Given the description of an element on the screen output the (x, y) to click on. 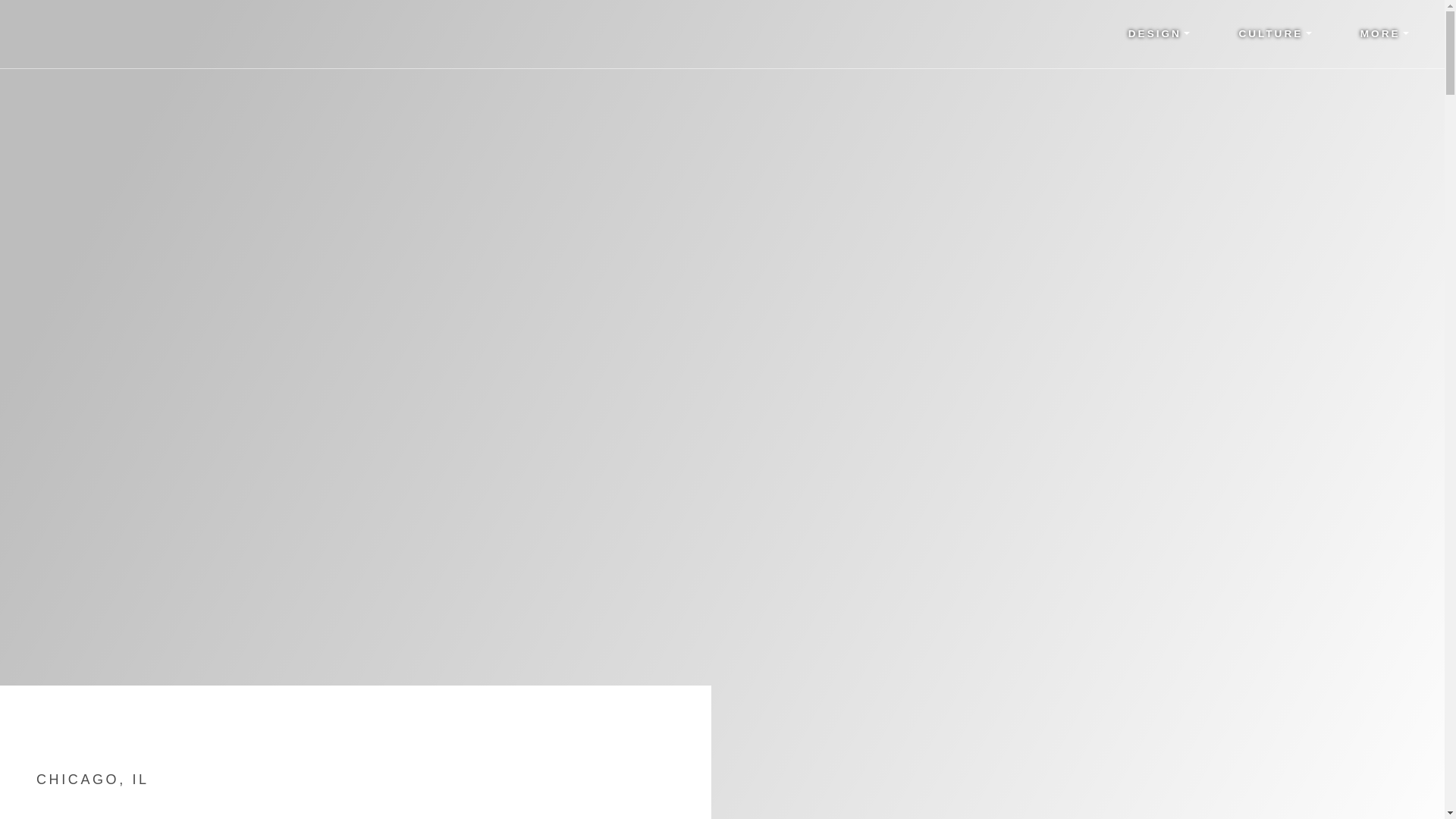
Design (1158, 33)
CULTURE (1274, 33)
More (1384, 33)
Culture (1274, 33)
DESIGN (1158, 33)
MORE (1384, 33)
